Given the description of an element on the screen output the (x, y) to click on. 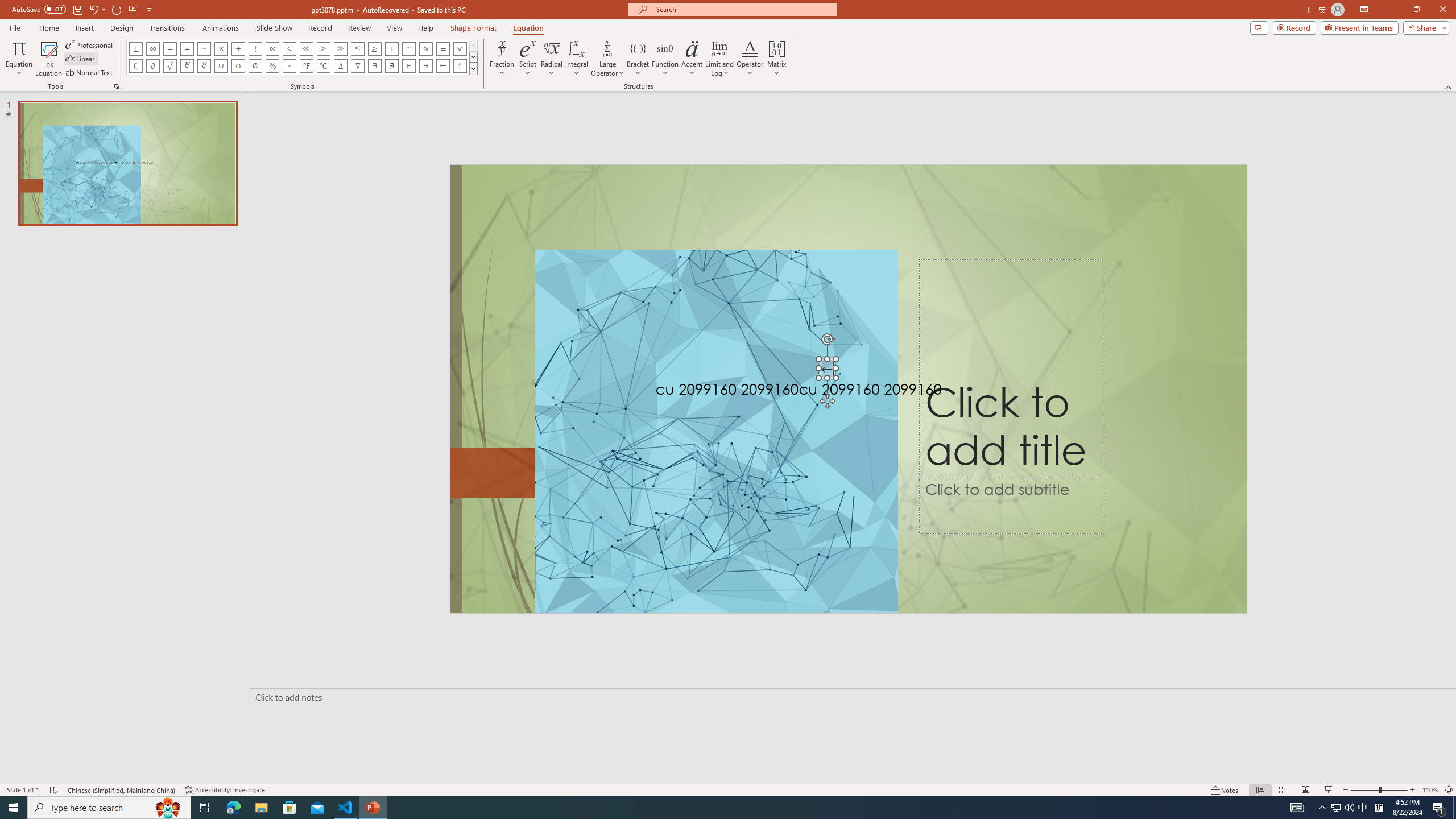
Equation Symbol Complement (136, 65)
Equation Symbol Proportional To (272, 48)
Equation Symbol Empty Set (255, 65)
Equation Symbol Factorial (255, 48)
